Given the description of an element on the screen output the (x, y) to click on. 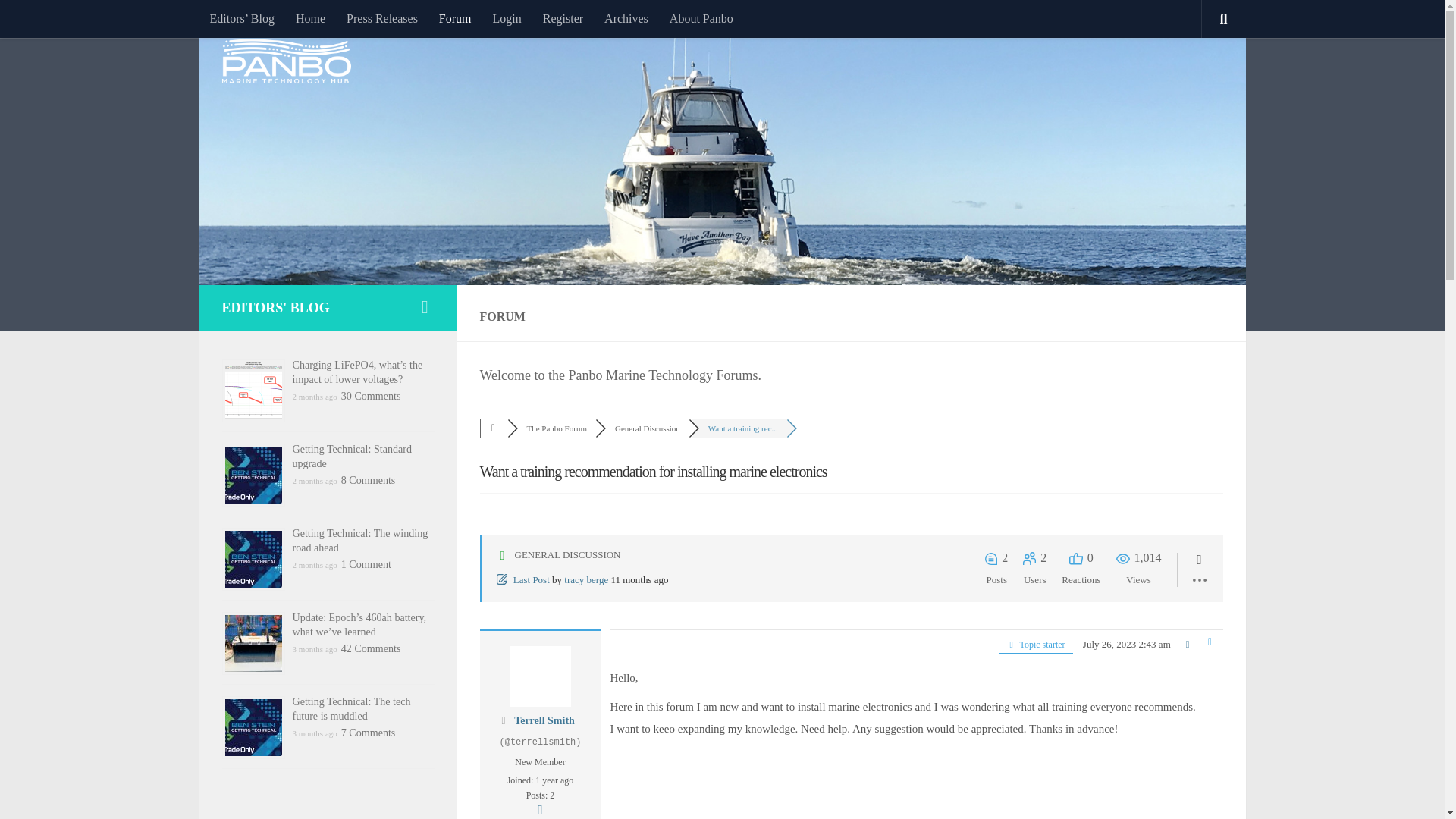
The Panbo Forum (555, 428)
More (539, 809)
Archives (626, 18)
Rating Title (539, 762)
General Discussion (646, 428)
About Panbo (701, 18)
General Discussion (646, 428)
Forums (493, 428)
Terrell Smith (544, 720)
Offline (502, 720)
prepaidgiftbalance (1150, 729)
Register (563, 18)
Login (506, 18)
Press Releases (382, 18)
Forum (454, 18)
